Given the description of an element on the screen output the (x, y) to click on. 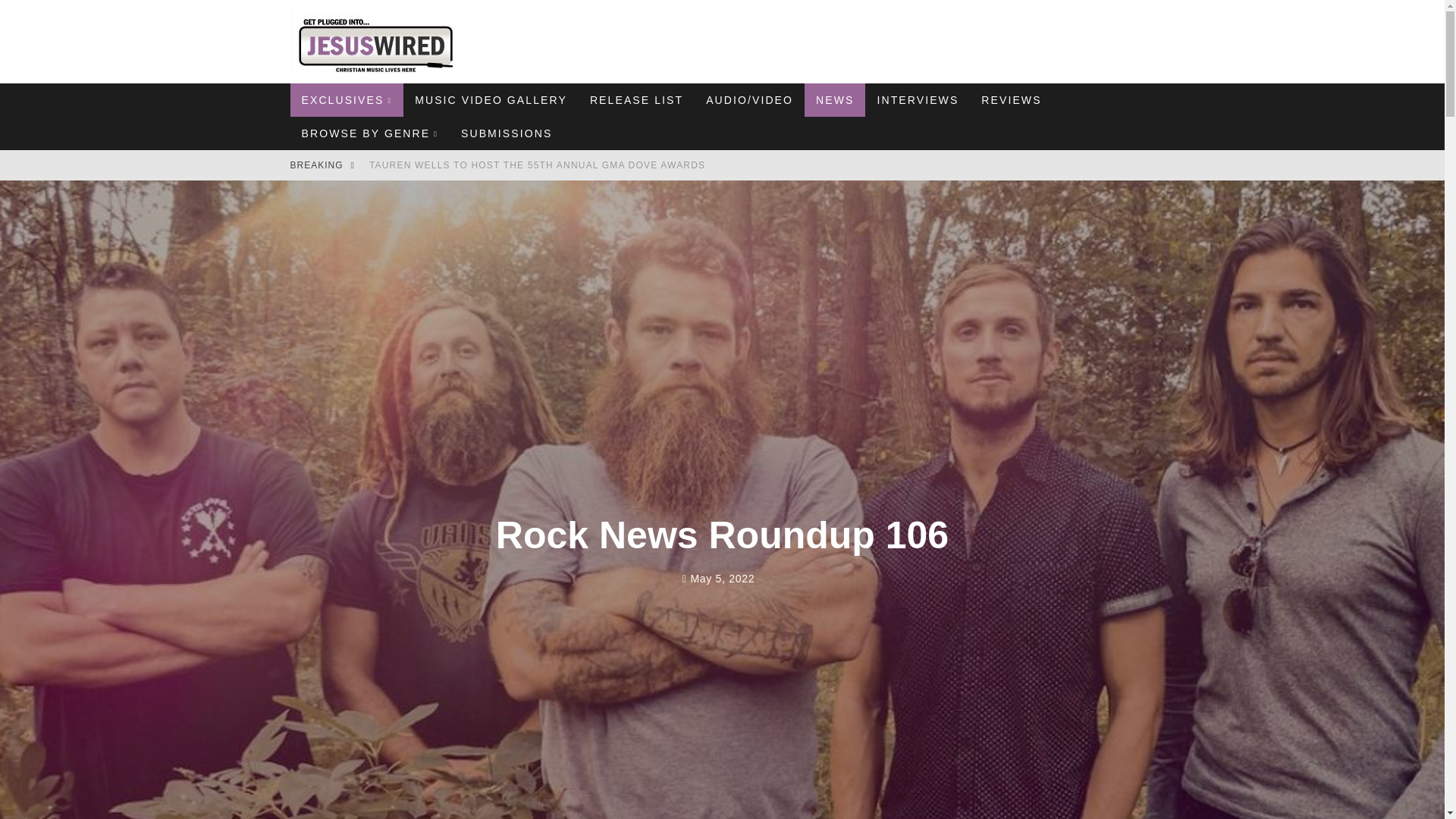
EXCLUSIVES (346, 100)
MUSIC VIDEO GALLERY (490, 100)
RELEASE LIST (636, 100)
Tauren Wells To Host The 55th Annual GMA Dove Awards (536, 164)
